Given the description of an element on the screen output the (x, y) to click on. 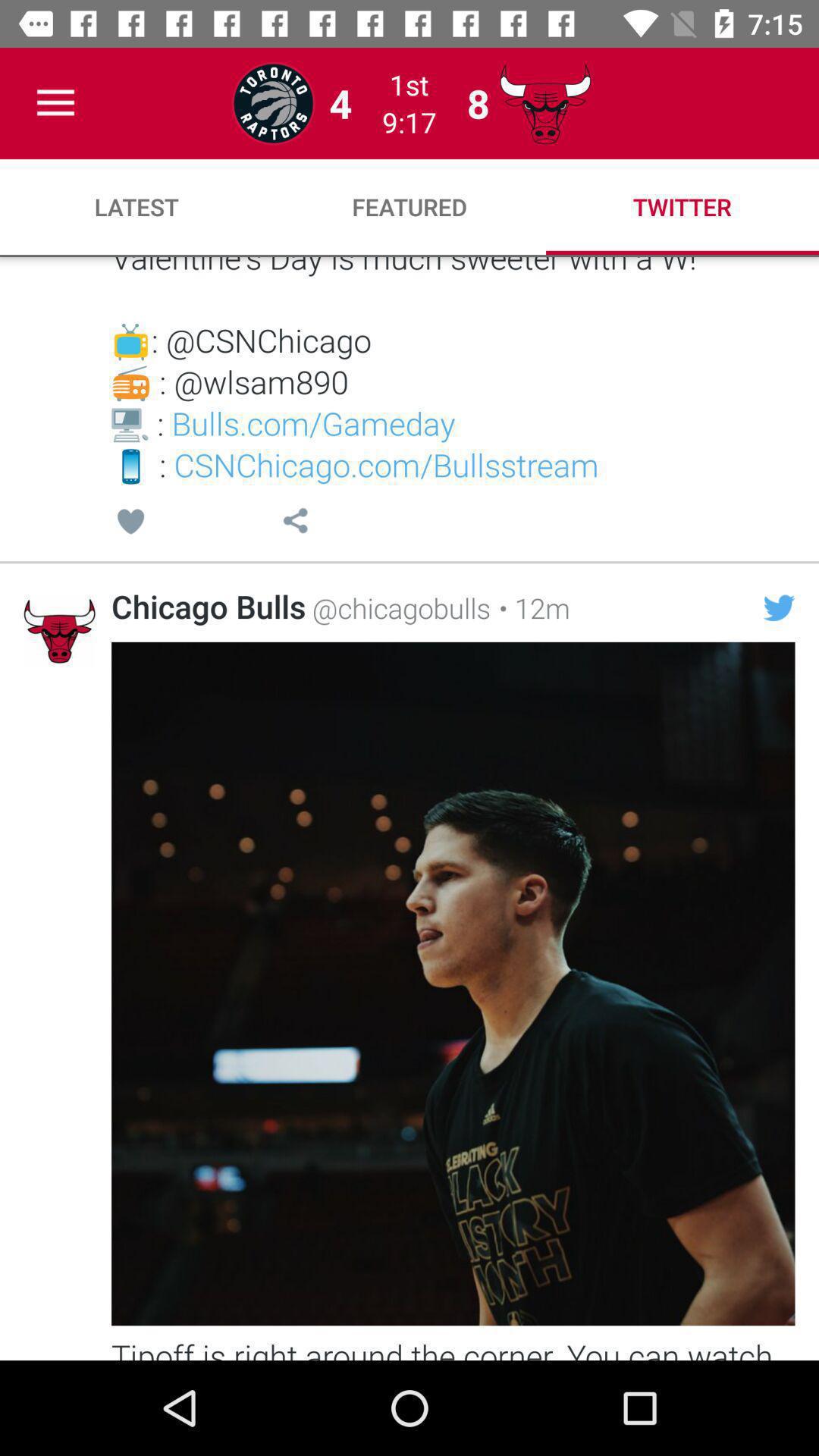
turn off icon above the chicago bulls icon (131, 523)
